Given the description of an element on the screen output the (x, y) to click on. 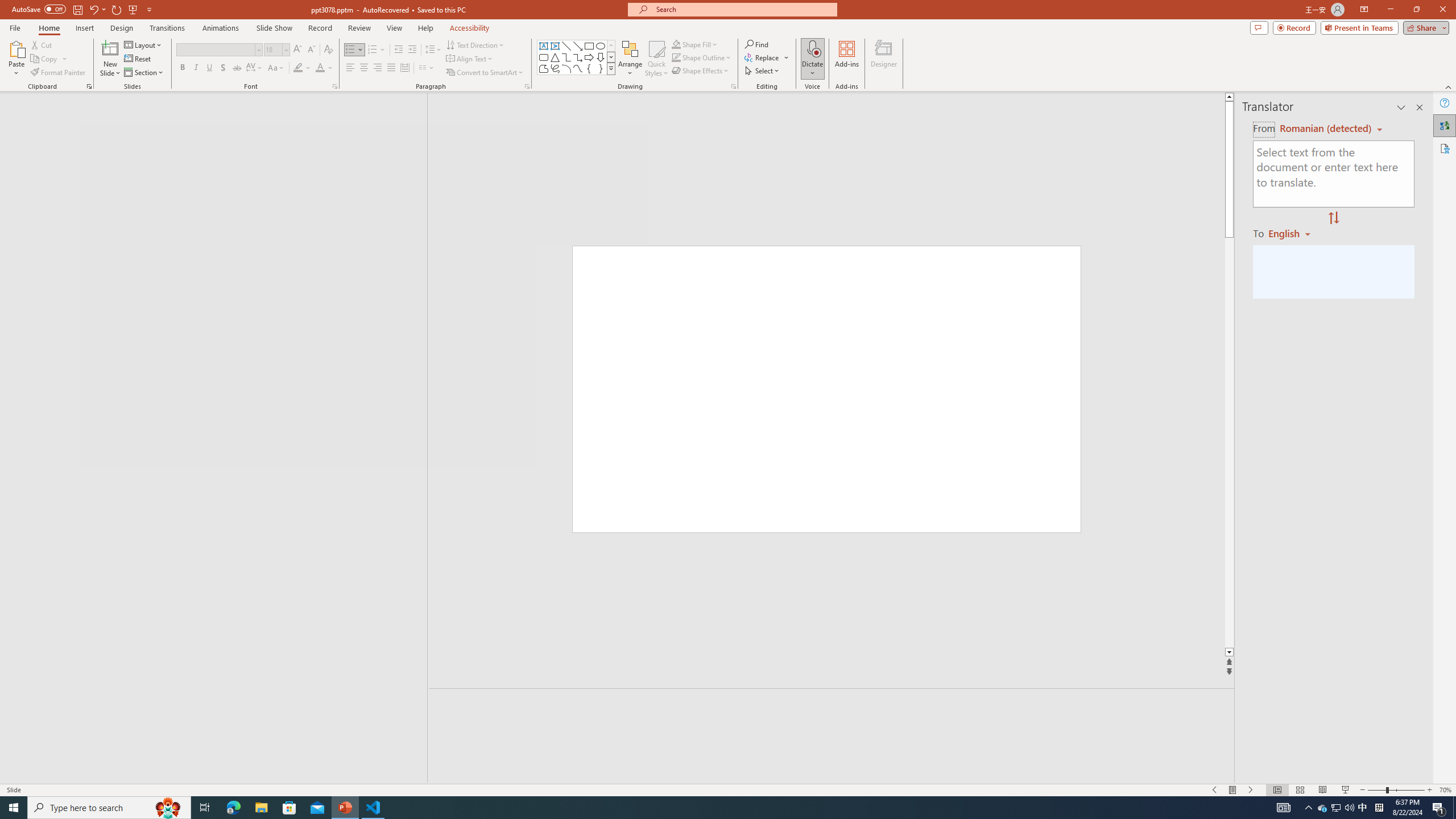
Bold (182, 67)
Task Pane Options (1400, 107)
Copy (49, 58)
Vertical Text Box (554, 45)
Strikethrough (237, 67)
Shape Fill (694, 44)
Replace... (767, 56)
Arc (566, 68)
Font (215, 49)
Oval (600, 45)
